Given the description of an element on the screen output the (x, y) to click on. 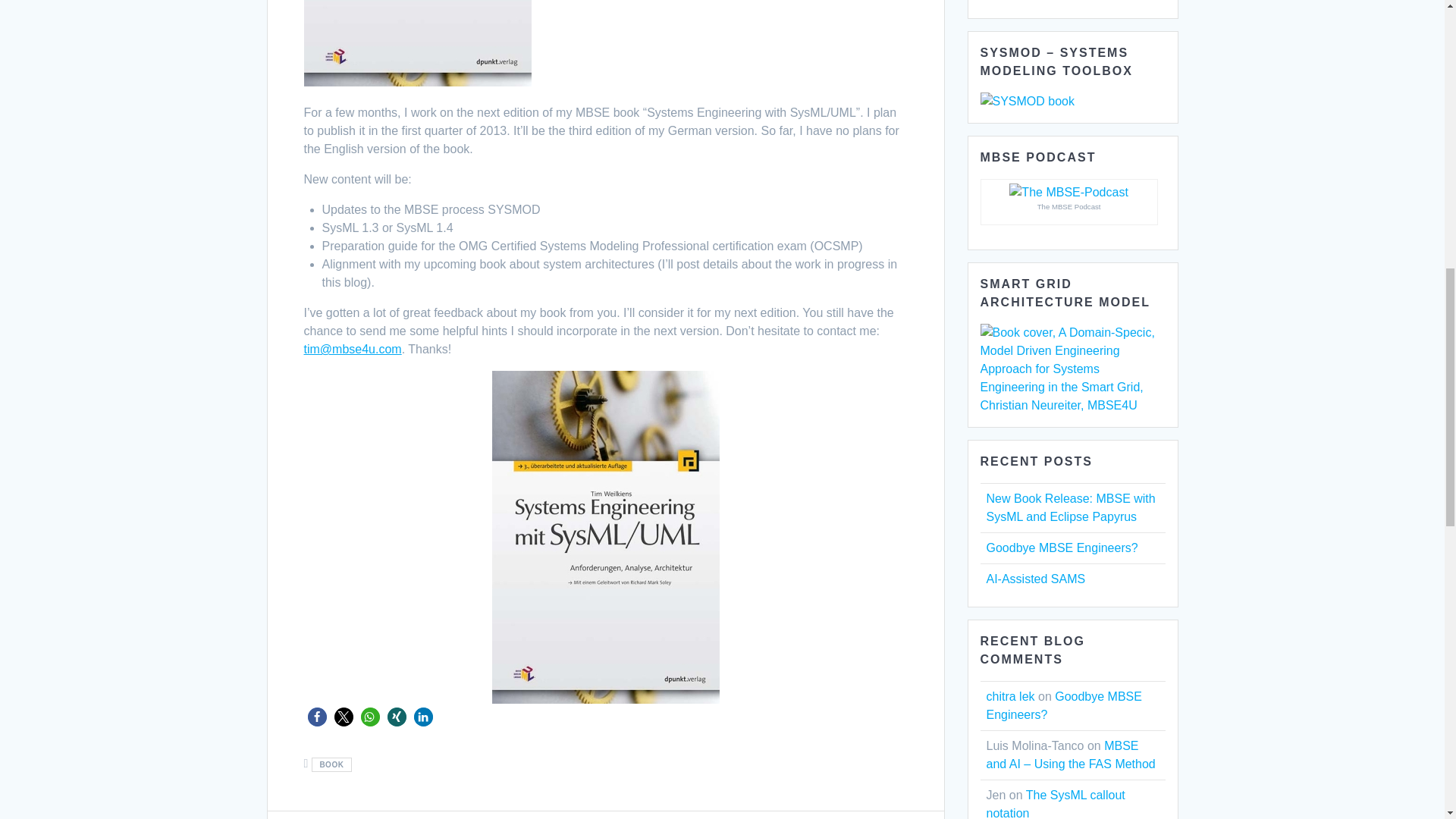
Smart Grid Architecture Model (1071, 368)
Share on XING (396, 716)
Share on Whatsapp (370, 716)
Share on Facebook (316, 716)
Share on X (342, 716)
Share on LinkedIn (422, 716)
